Given the description of an element on the screen output the (x, y) to click on. 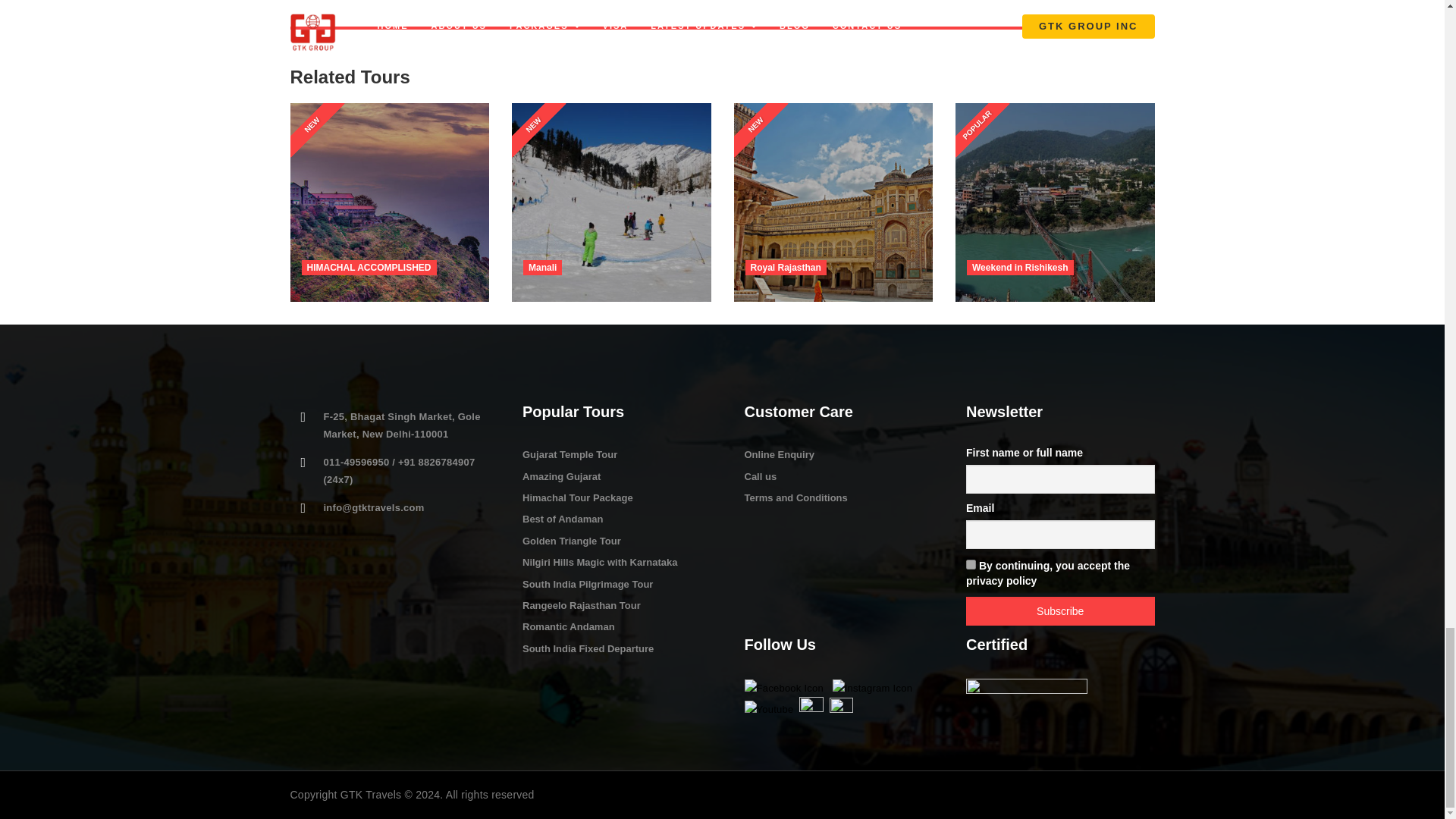
on (970, 564)
Himachal Tour Package (577, 497)
Amazing Gujarat (560, 476)
Online Enquiry (778, 454)
Best of Andaman (562, 518)
Rangeelo Rajasthan Tour (581, 604)
South India Pilgrimage Tour (587, 583)
South India Fixed Departure (587, 648)
Golden Triangle Tour (571, 541)
Romantic Andaman (568, 626)
Subscribe (1060, 611)
Gujarat Temple Tour (569, 454)
Nilgiri Hills Magic with Karnataka (599, 562)
